Given the description of an element on the screen output the (x, y) to click on. 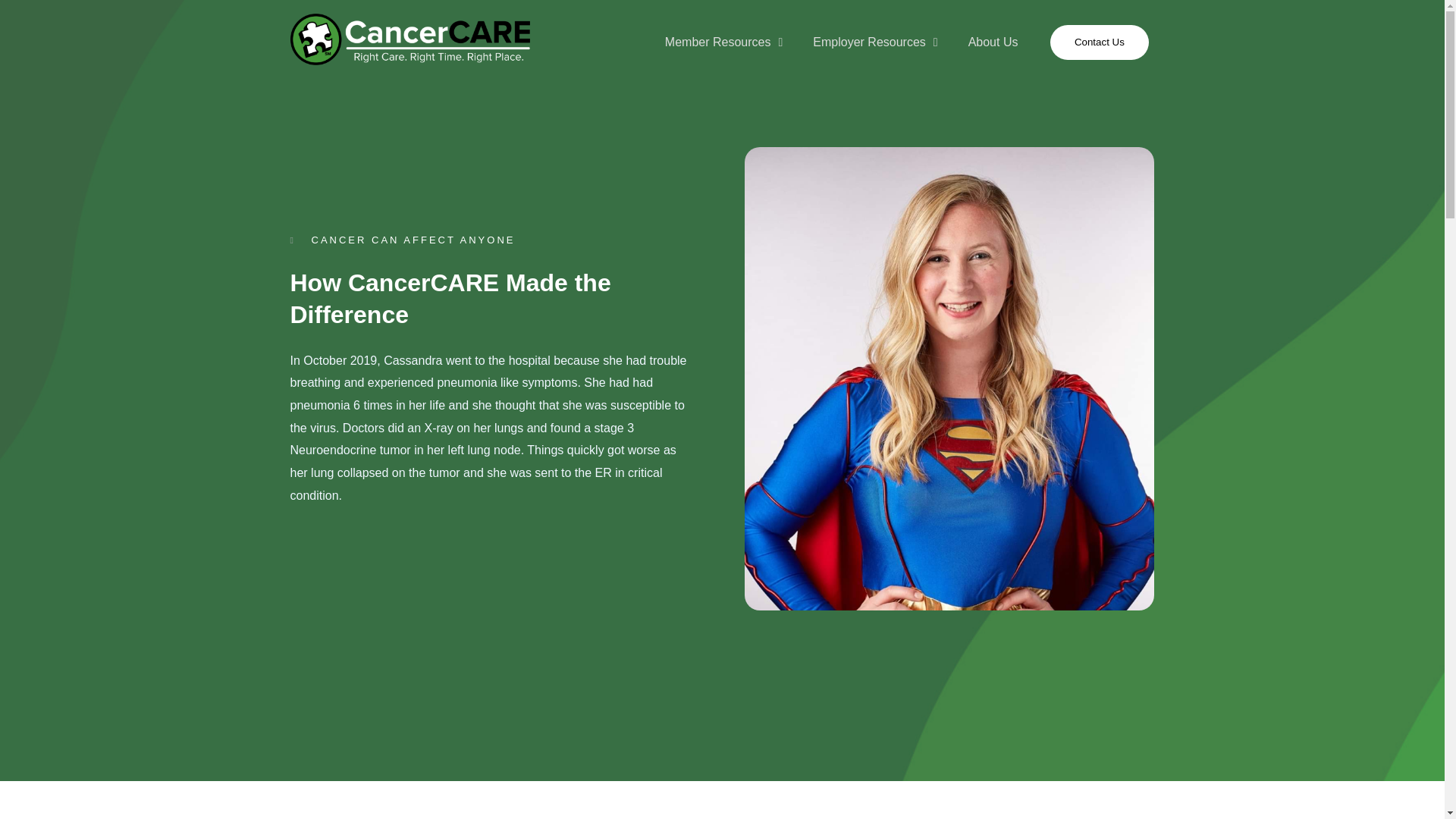
Member Resources (723, 42)
Contact Us (1098, 41)
About Us (993, 42)
Employer Resources (874, 42)
